Given the description of an element on the screen output the (x, y) to click on. 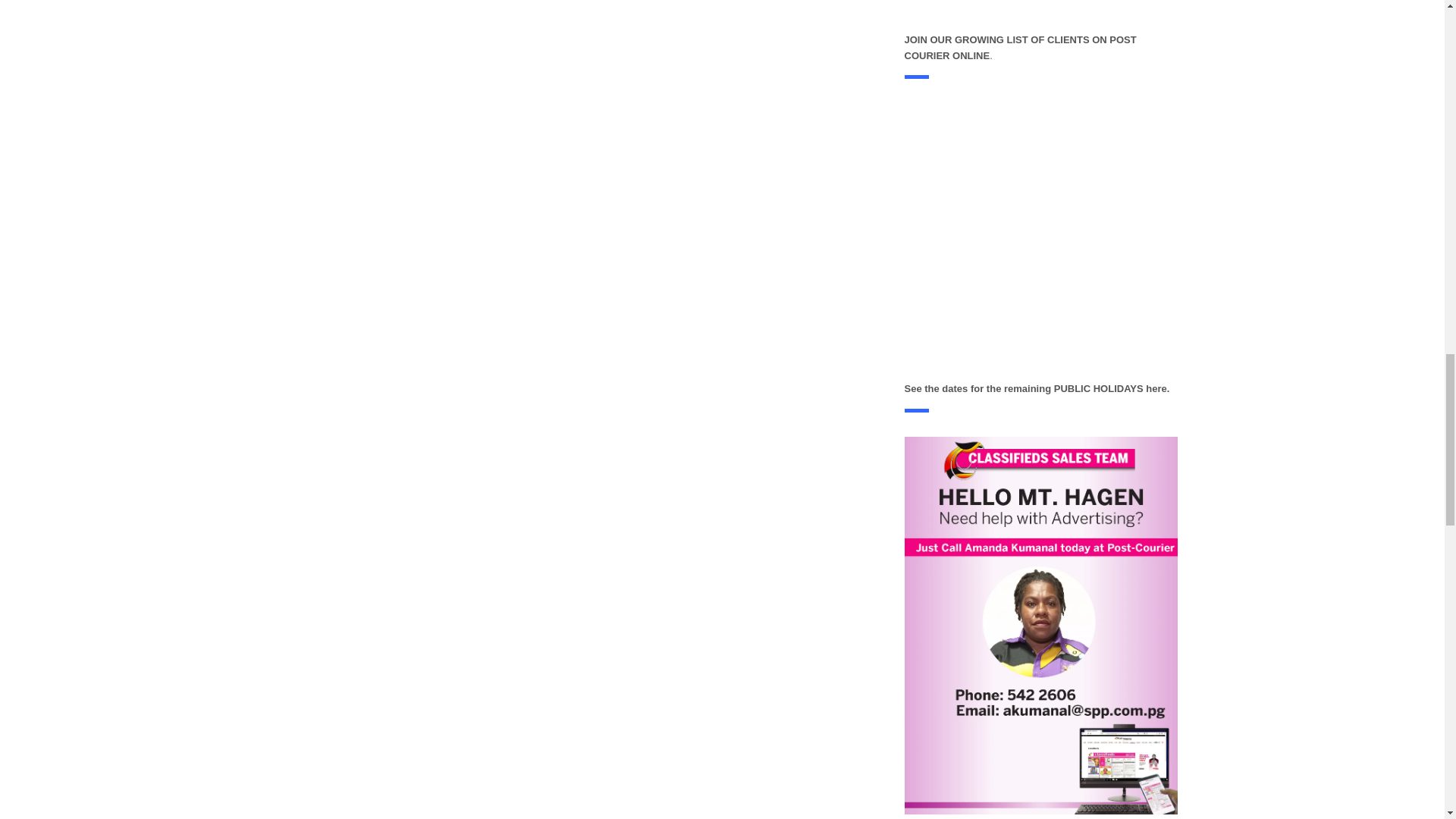
VideoPress Video Player (1040, 13)
VideoPress Video Player (1040, 239)
